Given the description of an element on the screen output the (x, y) to click on. 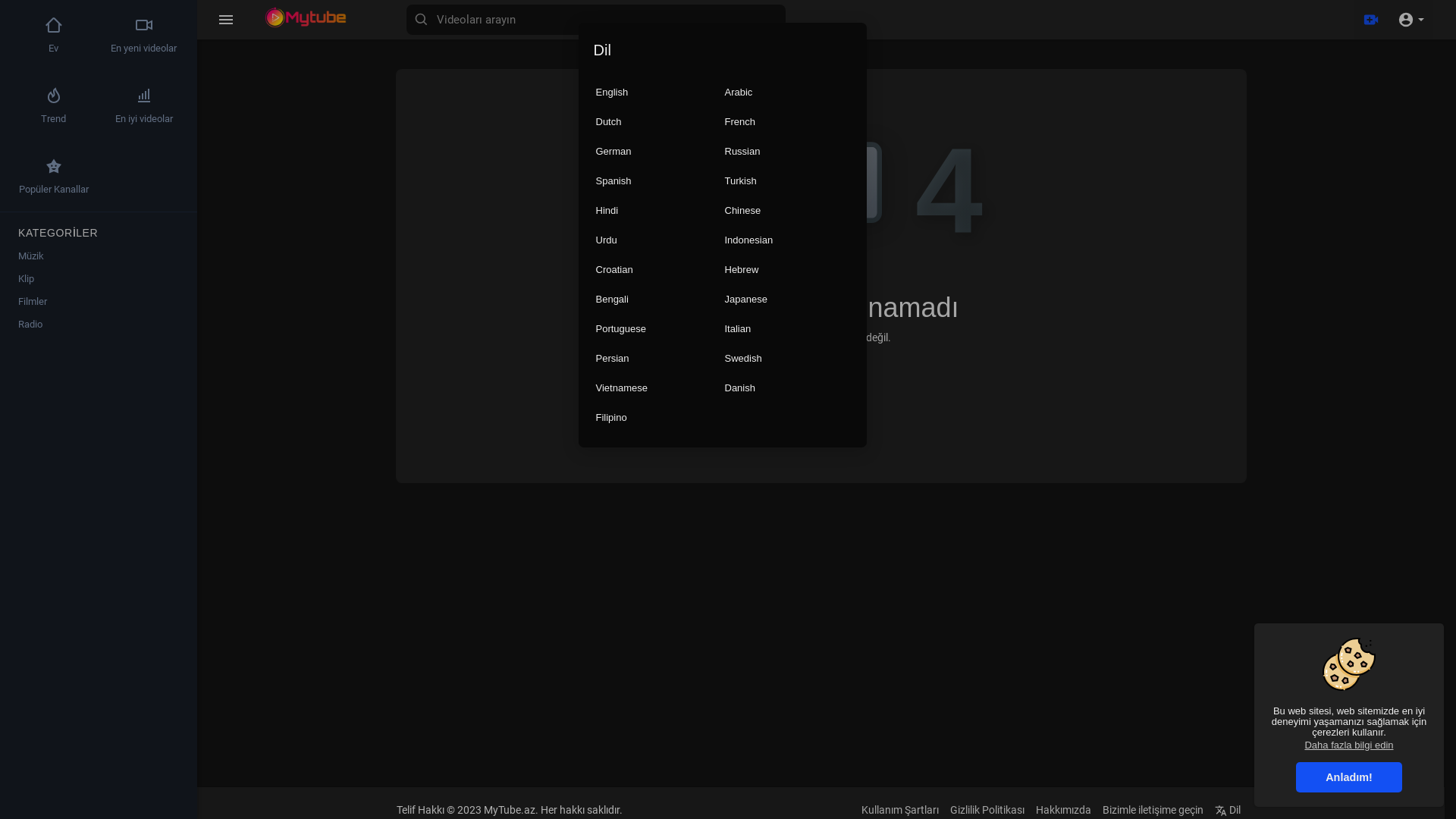
Hebrew Element type: text (786, 269)
Klip Element type: text (98, 278)
Danish Element type: text (786, 387)
Ev Element type: text (53, 35)
German Element type: text (658, 151)
Bengali Element type: text (658, 298)
En iyi videolar Element type: text (143, 105)
Persian Element type: text (658, 358)
Indonesian Element type: text (786, 239)
Arabic Element type: text (786, 91)
Portuguese Element type: text (658, 328)
Vietnamese Element type: text (658, 387)
English Element type: text (658, 91)
French Element type: text (786, 121)
Croatian Element type: text (658, 269)
Trend Element type: text (53, 105)
Russian Element type: text (786, 151)
Ev Element type: text (820, 392)
Daha fazla bilgi edin Element type: text (1348, 744)
Filipino Element type: text (658, 417)
Dil Element type: text (1227, 809)
Swedish Element type: text (786, 358)
Urdu Element type: text (658, 239)
Spanish Element type: text (658, 180)
Italian Element type: text (786, 328)
Turkish Element type: text (786, 180)
Hindi Element type: text (658, 210)
En yeni videolar Element type: text (143, 35)
Filmler Element type: text (98, 301)
Radio Element type: text (98, 324)
Japanese Element type: text (786, 298)
Dutch Element type: text (658, 121)
Chinese Element type: text (786, 210)
